Given the description of an element on the screen output the (x, y) to click on. 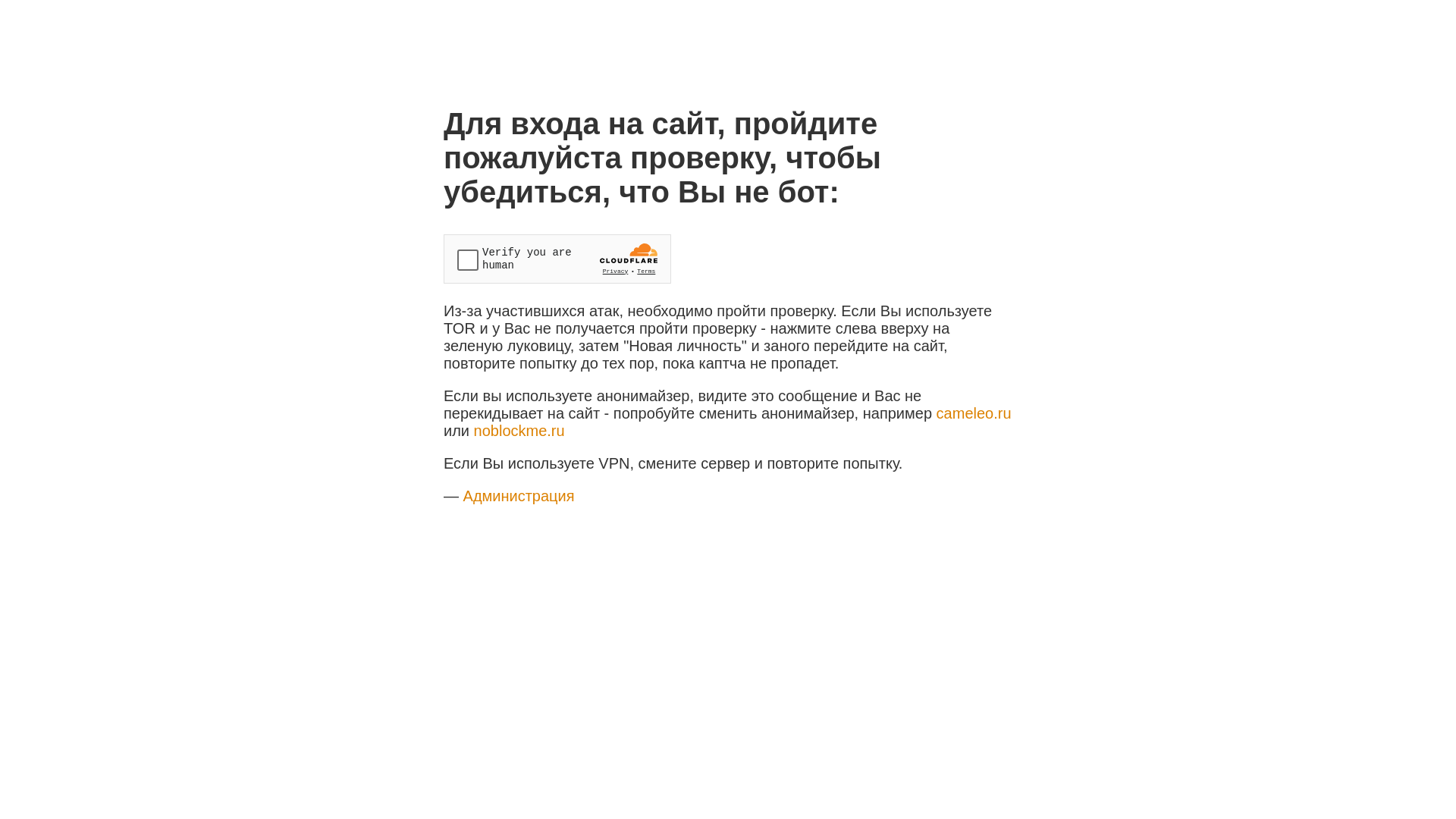
Widget containing a Cloudflare security challenge Element type: hover (557, 258)
noblockme.ru Element type: text (518, 430)
cameleo.ru Element type: text (973, 412)
